Given the description of an element on the screen output the (x, y) to click on. 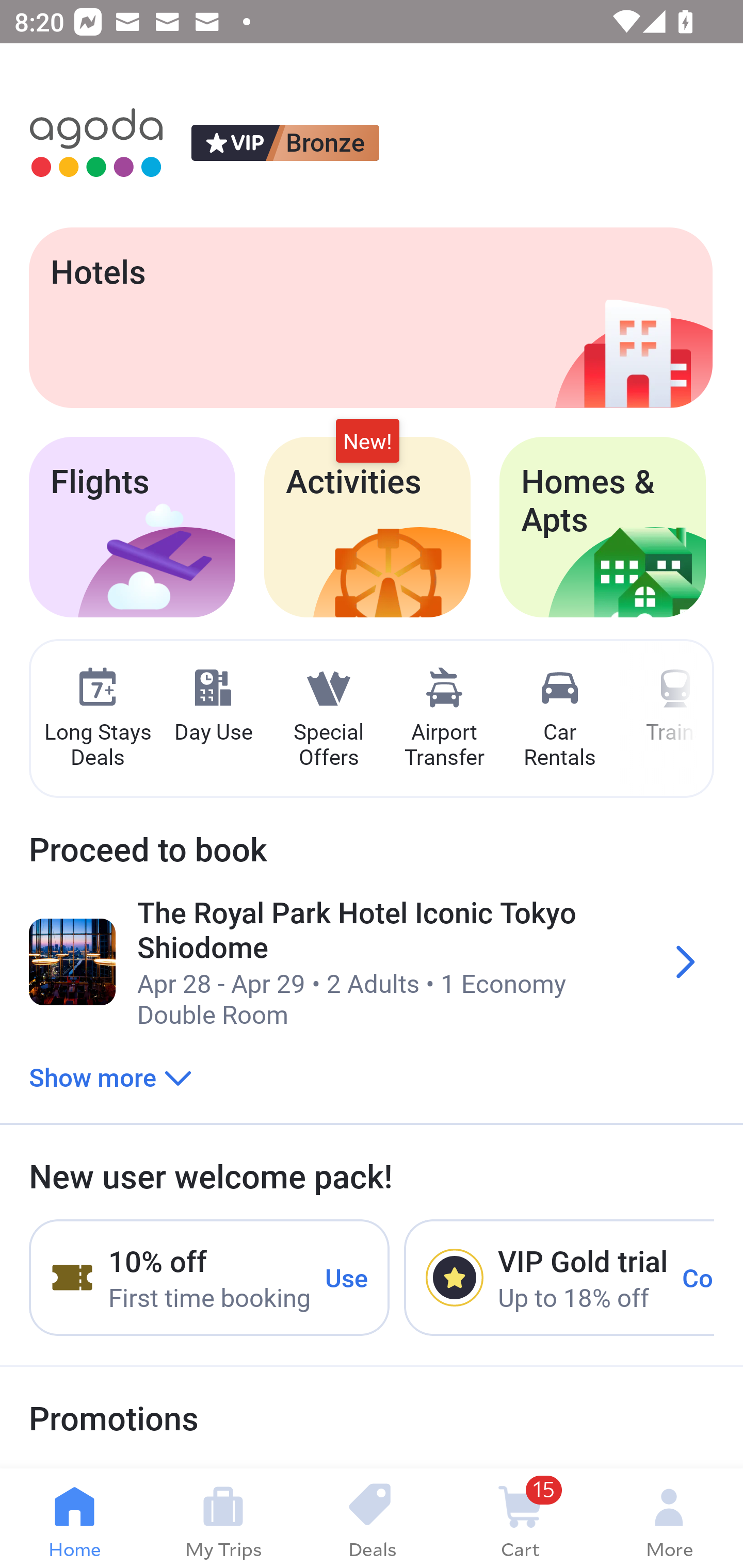
Hotels (370, 317)
New! (367, 441)
Flights (131, 527)
Activities (367, 527)
Homes & Apts (602, 527)
Day Use (213, 706)
Long Stays Deals (97, 718)
Special Offers (328, 718)
Airport Transfer (444, 718)
Car Rentals (559, 718)
Show more (110, 1076)
Use (346, 1277)
Home (74, 1518)
My Trips (222, 1518)
Deals (371, 1518)
15 Cart (519, 1518)
More (668, 1518)
